Given the description of an element on the screen output the (x, y) to click on. 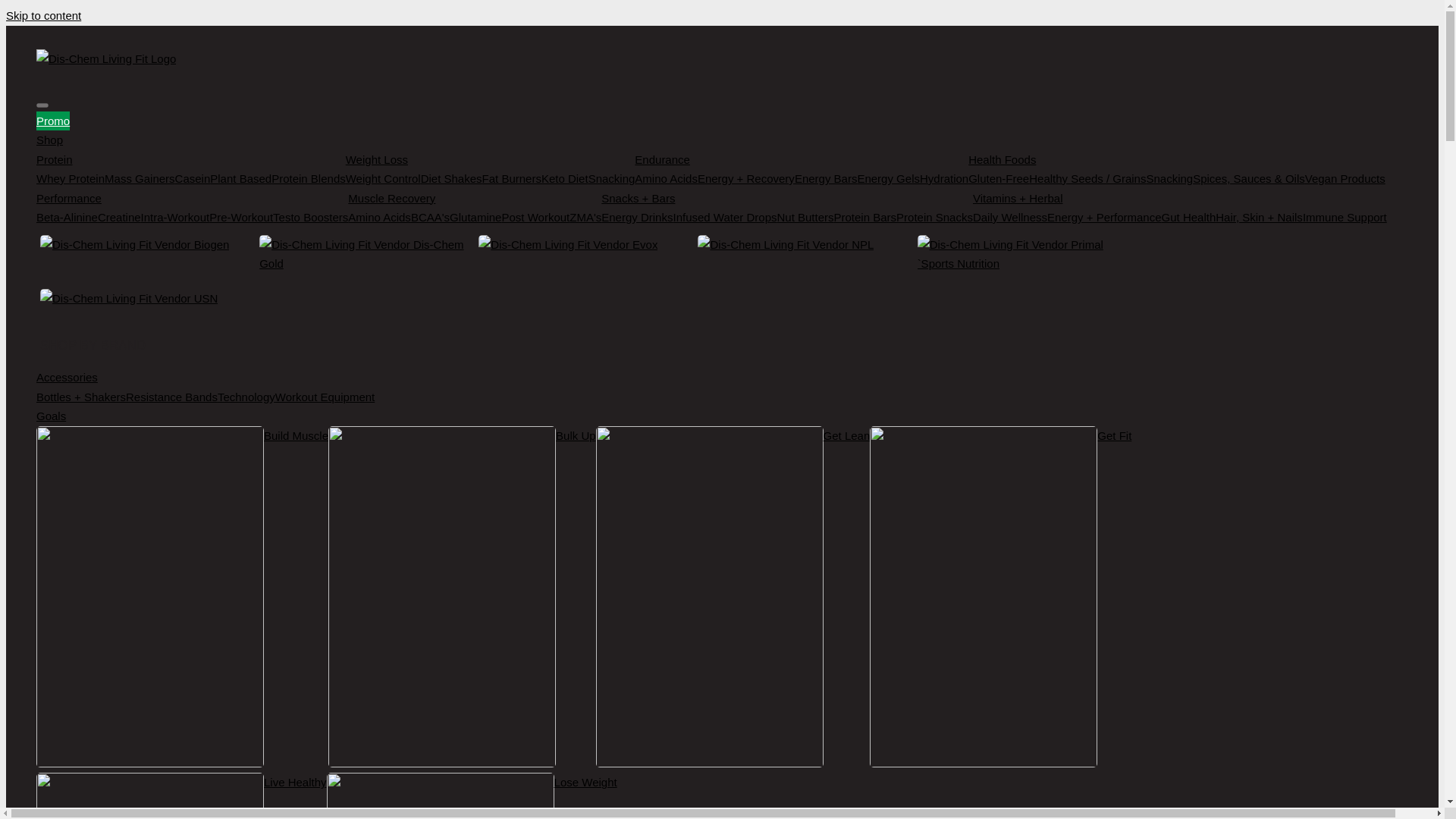
Snacking (1168, 178)
Performance (191, 198)
Creatine (119, 217)
Protein Blends (308, 178)
Energy Bars (825, 178)
BCAA's (429, 217)
Hydration (944, 178)
Glutamine (474, 217)
Testo Boosters (310, 217)
Snacking (611, 178)
Endurance (801, 159)
Whey Protein (70, 178)
Mass Gainers (139, 178)
Protein (191, 159)
Muscle Recovery (474, 198)
